Given the description of an element on the screen output the (x, y) to click on. 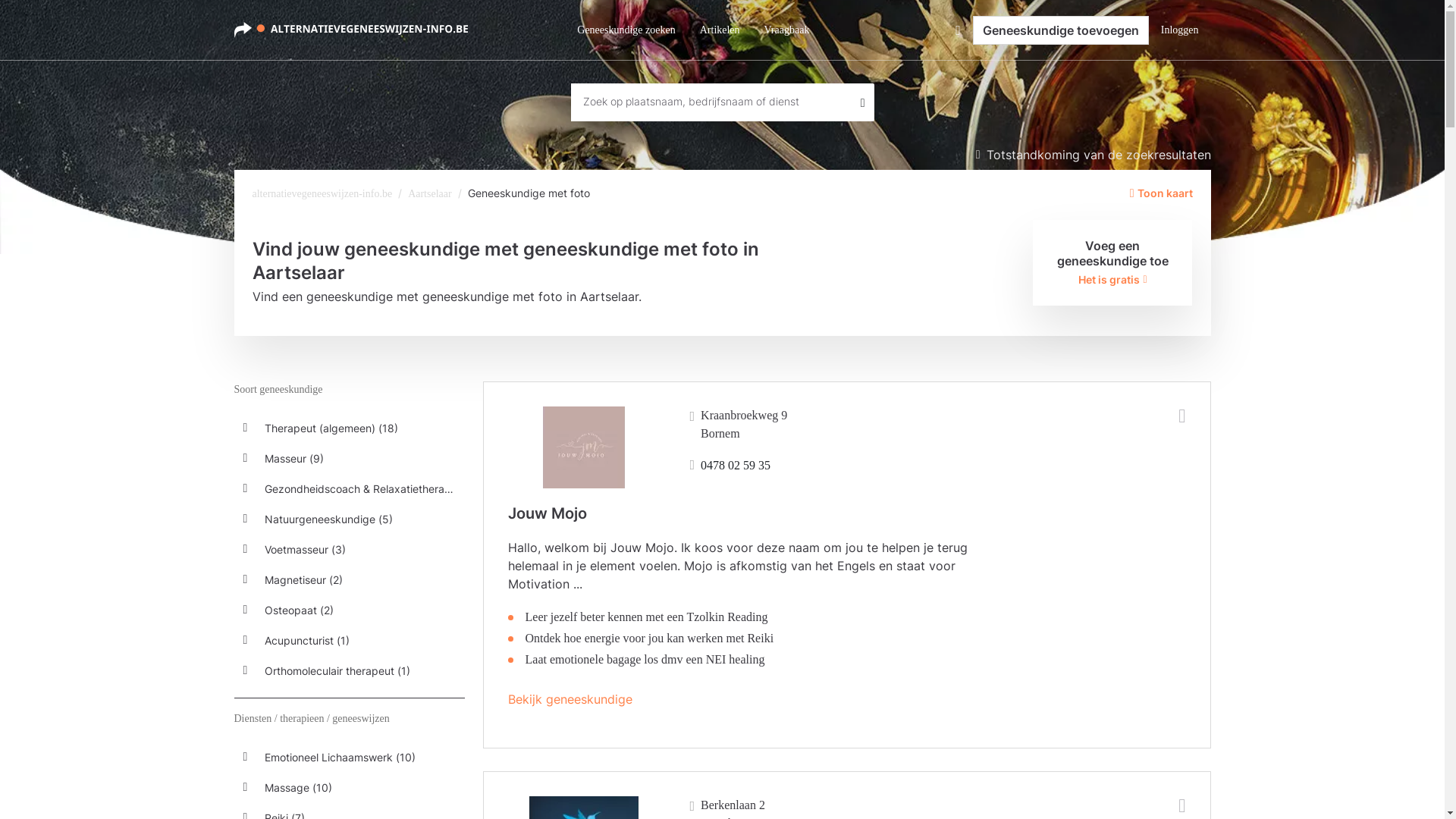
0478 02 59 35 Element type: text (730, 465)
Inloggen Element type: text (1179, 29)
alternatievegeneeswijzen-info.be Element type: text (321, 193)
Geneeskundige zoeken Element type: text (625, 29)
Vraagbaak Element type: text (787, 29)
Het is gratis Element type: text (1112, 279)
Geneeskundige toevoegen Element type: text (1060, 29)
Bekijk geneeskundige Element type: text (570, 698)
Voetmasseur (3) Element type: text (348, 548)
Aartselaar Element type: text (429, 193)
Massage (10) Element type: text (348, 786)
Natuurgeneeskundige (5) Element type: text (348, 518)
Toon kaart Element type: text (1160, 192)
Orthomoleculair therapeut (1) Element type: text (348, 670)
Gezondheidscoach & Relaxatietherapeut (5) Element type: text (348, 488)
Magnetiseur (2) Element type: text (348, 579)
Osteopaat (2) Element type: text (348, 609)
Therapeut (algemeen) (18) Element type: text (348, 427)
Masseur (9) Element type: text (348, 457)
Jouw Mojo Element type: text (547, 513)
Acupuncturist (1) Element type: text (348, 639)
Emotioneel Lichaamswerk (10) Element type: text (348, 756)
Totstandkoming van de zoekresultaten Element type: text (1093, 154)
Artikelen Element type: text (719, 29)
